Given the description of an element on the screen output the (x, y) to click on. 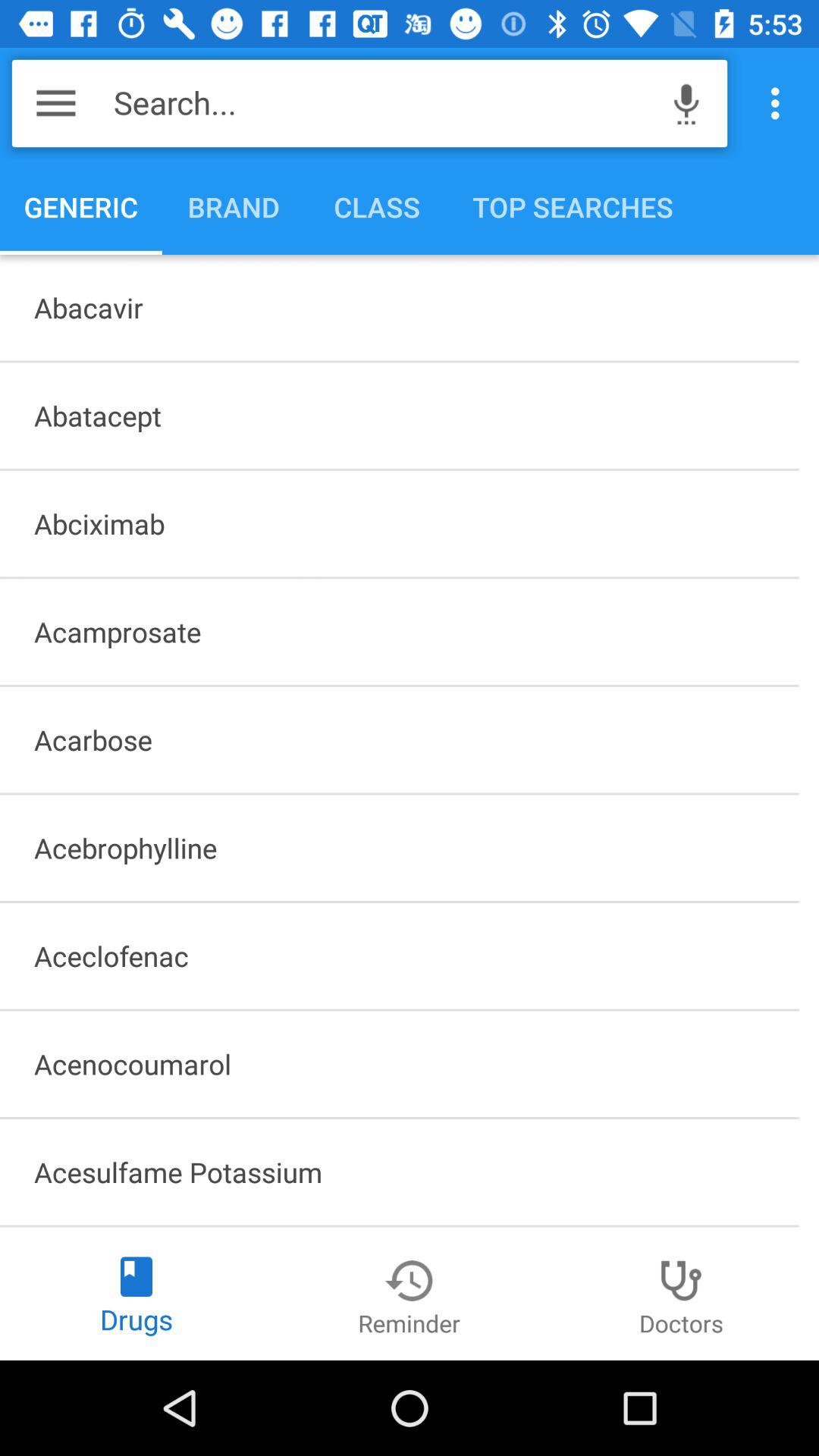
tap the item above abacavir item (779, 103)
